Given the description of an element on the screen output the (x, y) to click on. 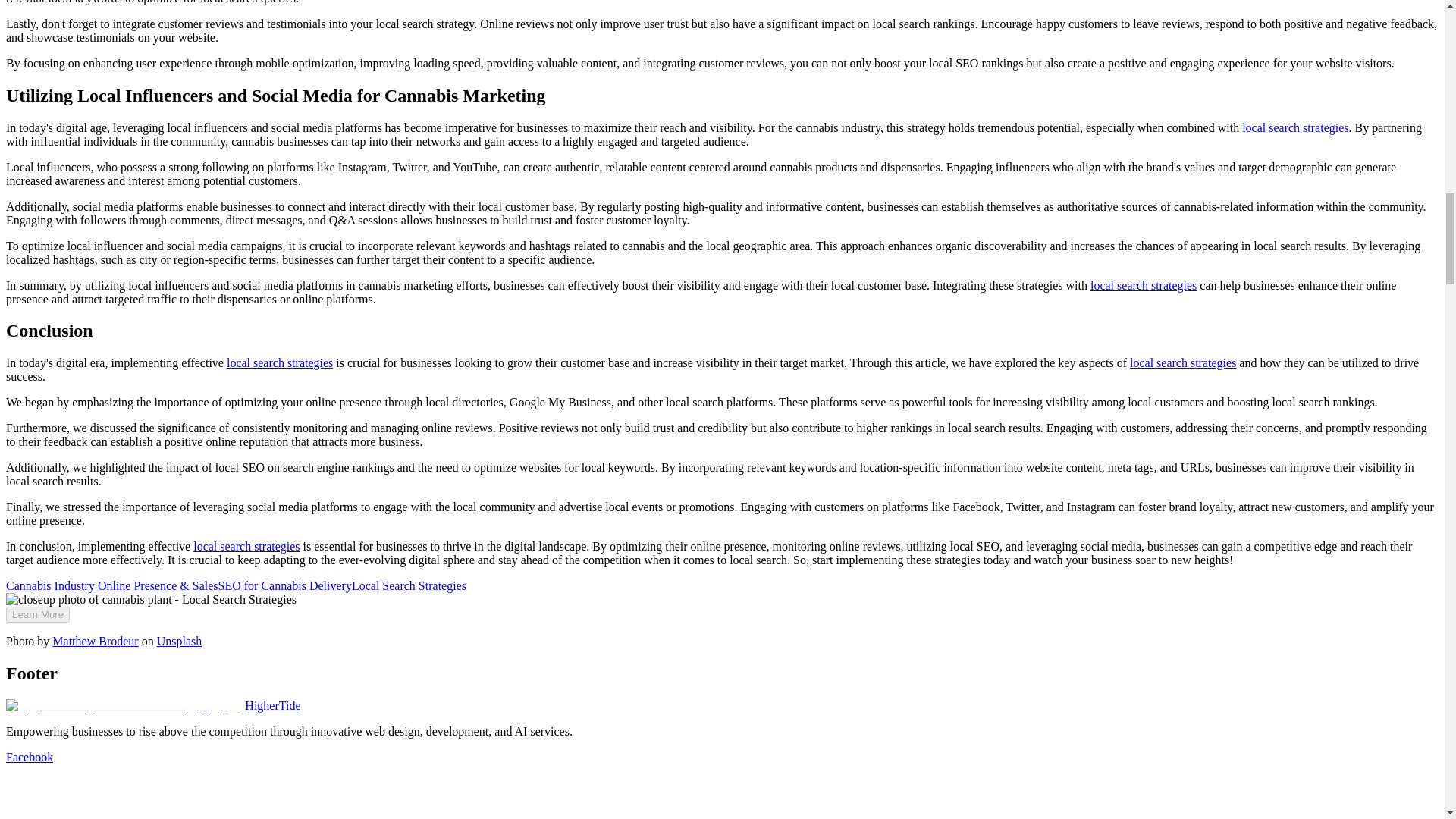
Learn More (37, 614)
local search strategies (280, 362)
local search strategies (1182, 362)
Unsplash (179, 640)
Local Search Strategies (408, 585)
Matthew Brodeur (95, 640)
SEO for Cannabis Delivery (285, 585)
local search strategies (1143, 285)
local search strategies (246, 545)
local search strategies (1294, 127)
